Given the description of an element on the screen output the (x, y) to click on. 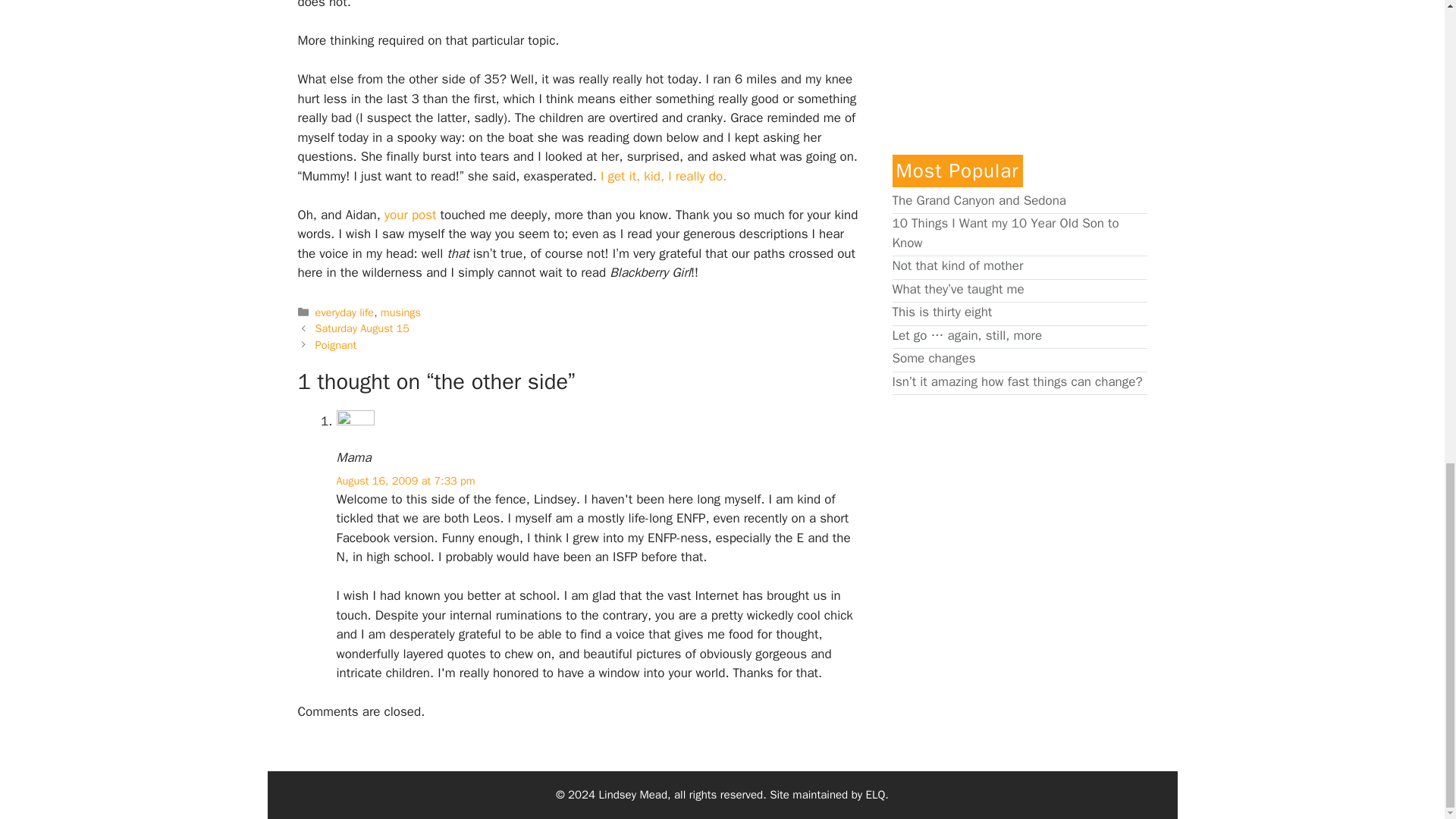
August 16, 2009 at 7:33 pm (406, 480)
The Grand Canyon and Sedona (978, 200)
your post (410, 214)
I get it, kid, I really do. (662, 176)
10 Things I Want my 10 Year Old Son to Know (1004, 232)
Not that kind of mother (957, 265)
musings (400, 312)
everyday life (344, 312)
Next (335, 345)
ELQ (875, 794)
Some changes (933, 358)
This is thirty eight (941, 311)
Poignant (335, 345)
Previous (362, 327)
Saturday August 15 (362, 327)
